Given the description of an element on the screen output the (x, y) to click on. 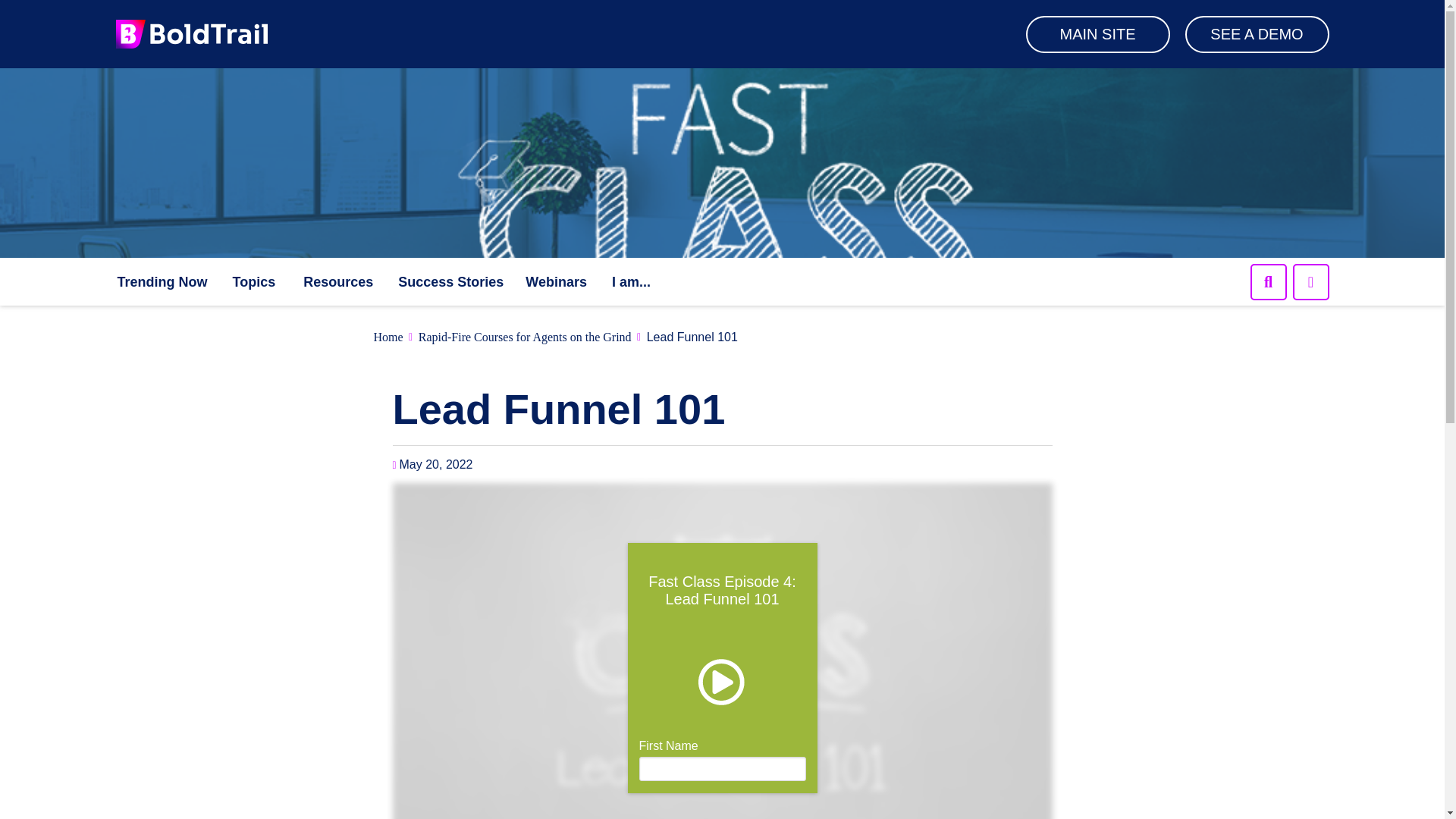
Home (387, 337)
Trending Now (161, 281)
SEE A DEMO (1256, 33)
Share this Post (1309, 281)
MAIN SITE (1097, 33)
Webinars (556, 281)
Success Stories (450, 281)
Share this Post (1309, 281)
Open Search Box (253, 281)
First Name (1267, 281)
Open search box (722, 759)
Published Date (337, 281)
